Given the description of an element on the screen output the (x, y) to click on. 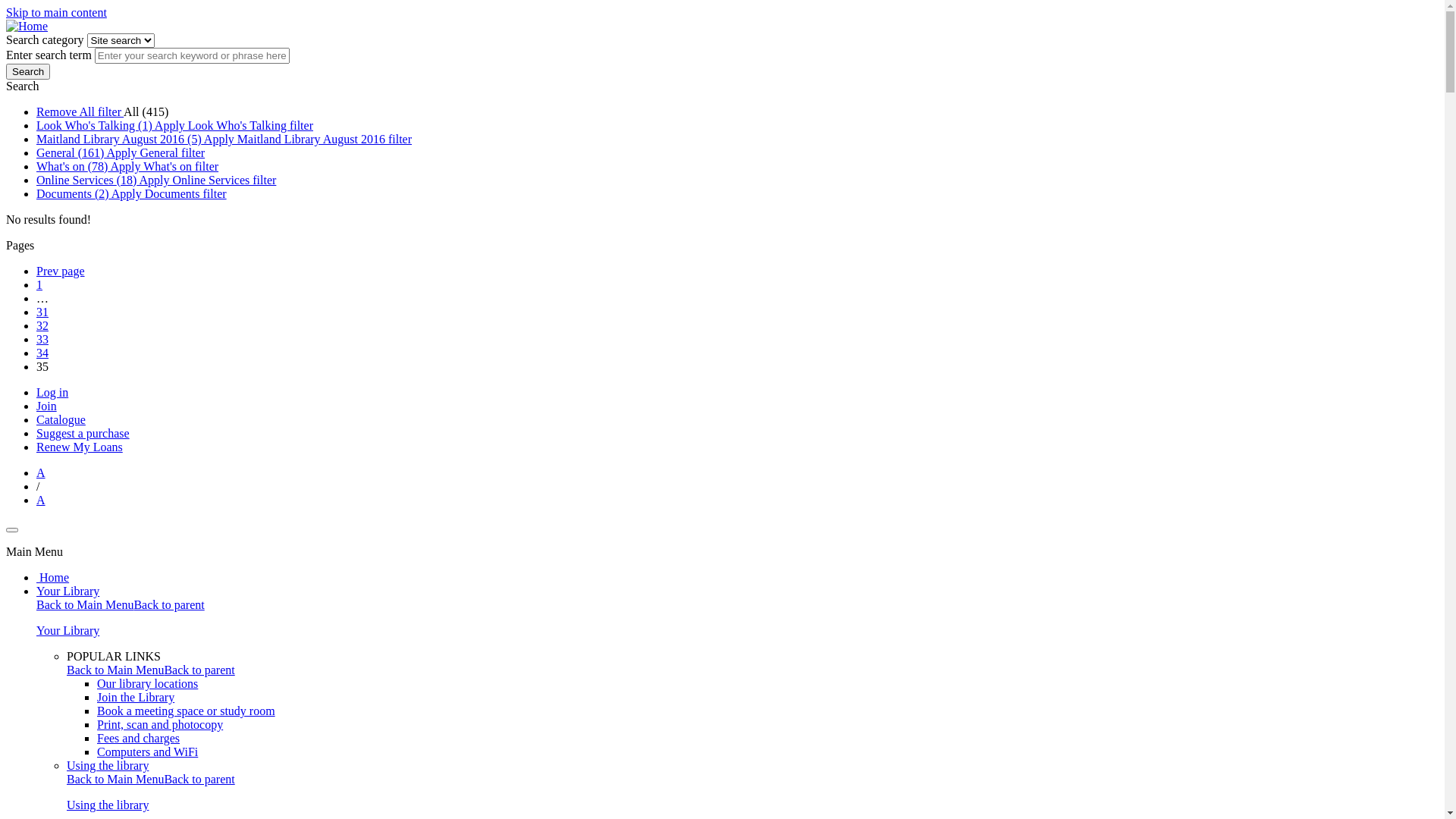
General (161) Apply General filter Element type: text (120, 152)
Back to Main Menu Element type: text (114, 669)
Fees and charges Element type: text (138, 737)
A Element type: text (40, 499)
Join Element type: text (46, 405)
Back to parent Element type: text (198, 669)
Back to parent Element type: text (168, 604)
Book a meeting space or study room Element type: text (186, 710)
Search Element type: text (28, 71)
Back to Main Menu Element type: text (114, 778)
Documents (2) Apply Documents filter Element type: text (131, 193)
Computers and WiFi Element type: text (147, 751)
34 Element type: text (42, 352)
Back to Main Menu Element type: text (84, 604)
32 Element type: text (42, 325)
Catalogue Element type: text (60, 419)
A Element type: text (40, 472)
Print, scan and photocopy Element type: text (159, 724)
Suggest a purchase Element type: text (82, 432)
Home Element type: hover (26, 25)
Online Services (18) Apply Online Services filter Element type: text (156, 179)
Look Who's Talking (1) Apply Look Who's Talking filter Element type: text (174, 125)
Skip to main content Element type: text (56, 12)
31 Element type: text (42, 311)
33 Element type: text (42, 338)
Join the Library Element type: text (135, 696)
Renew My Loans Element type: text (79, 446)
What's on (78) Apply What's on filter Element type: text (127, 166)
Prev page Element type: text (60, 270)
Our library locations Element type: text (147, 683)
Your Library Element type: text (67, 590)
Using the library Element type: text (107, 765)
 Home Element type: text (52, 577)
Remove All filter Element type: text (79, 111)
Log in Element type: text (52, 391)
Back to parent Element type: text (198, 778)
Your Library Element type: text (67, 630)
Using the library Element type: text (107, 804)
1 Element type: text (39, 284)
